Given the description of an element on the screen output the (x, y) to click on. 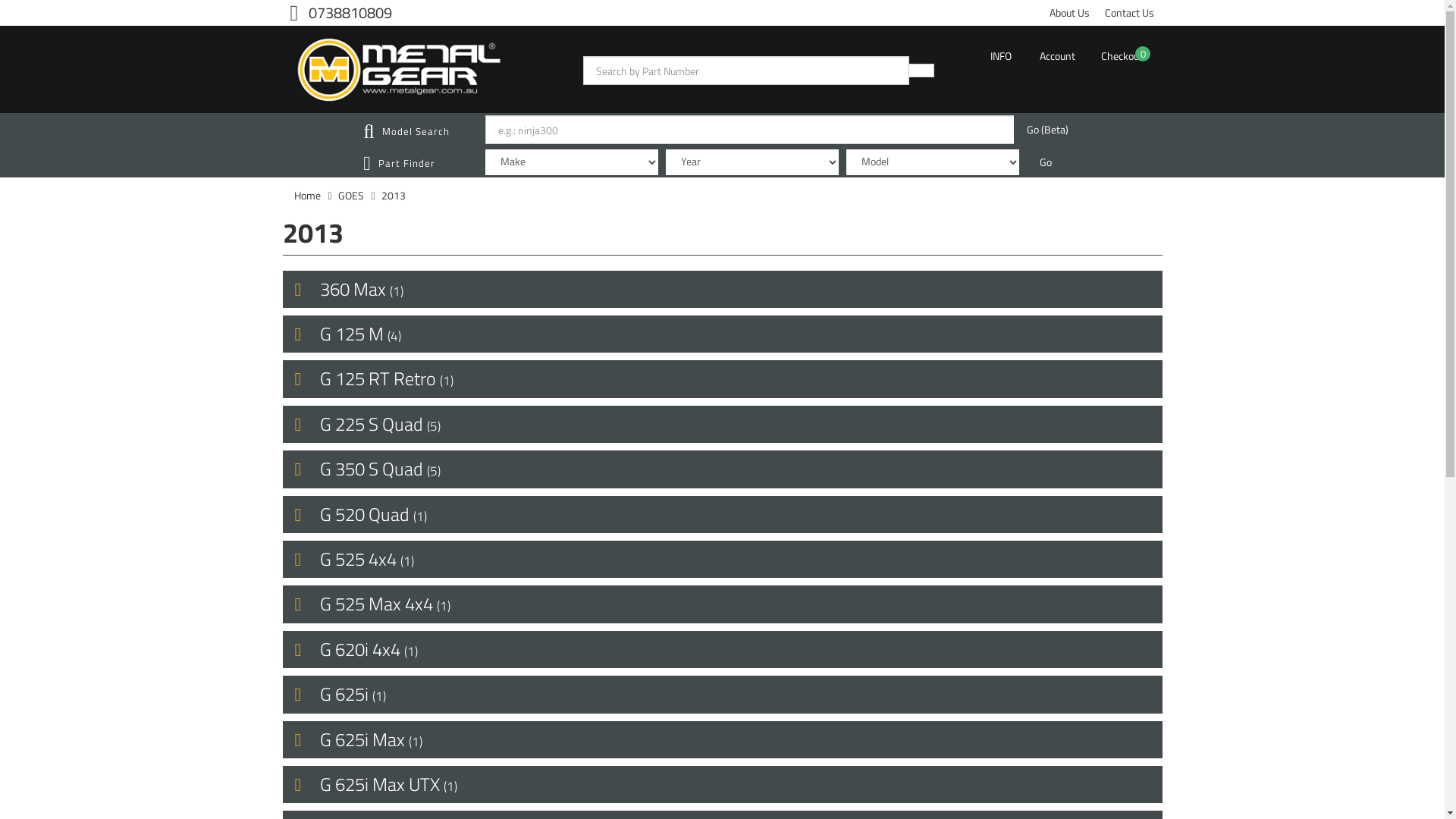
2013 Element type: text (393, 195)
Home Element type: text (307, 195)
GOES Element type: text (351, 195)
INFO Element type: text (1000, 55)
0738810809 Element type: text (340, 12)
Go (Beta) Element type: text (1047, 129)
0
Checkout Element type: text (1121, 55)
Account Element type: text (1057, 55)
Search Element type: text (921, 70)
Contact Us Element type: text (1129, 12)
Go Element type: text (1045, 162)
About Us Element type: text (1069, 12)
